Given the description of an element on the screen output the (x, y) to click on. 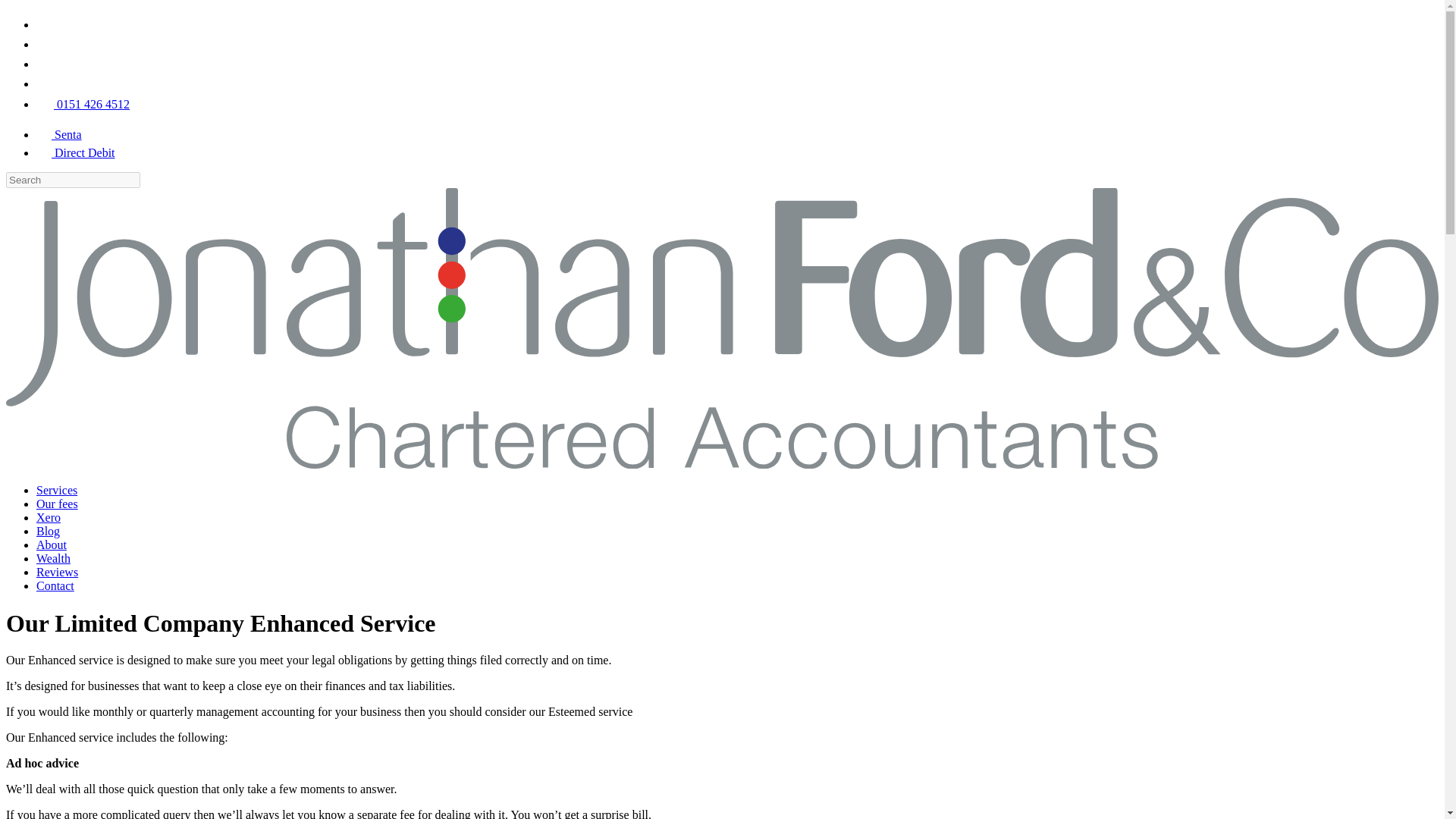
Like us on Facebook (44, 24)
0151 426 4512 (82, 103)
Our fees (57, 503)
Senta (58, 133)
Services (56, 490)
Find us on Linkedin (44, 43)
Email us (44, 83)
Blog (47, 530)
Contact (55, 585)
Wealth (52, 558)
